Given the description of an element on the screen output the (x, y) to click on. 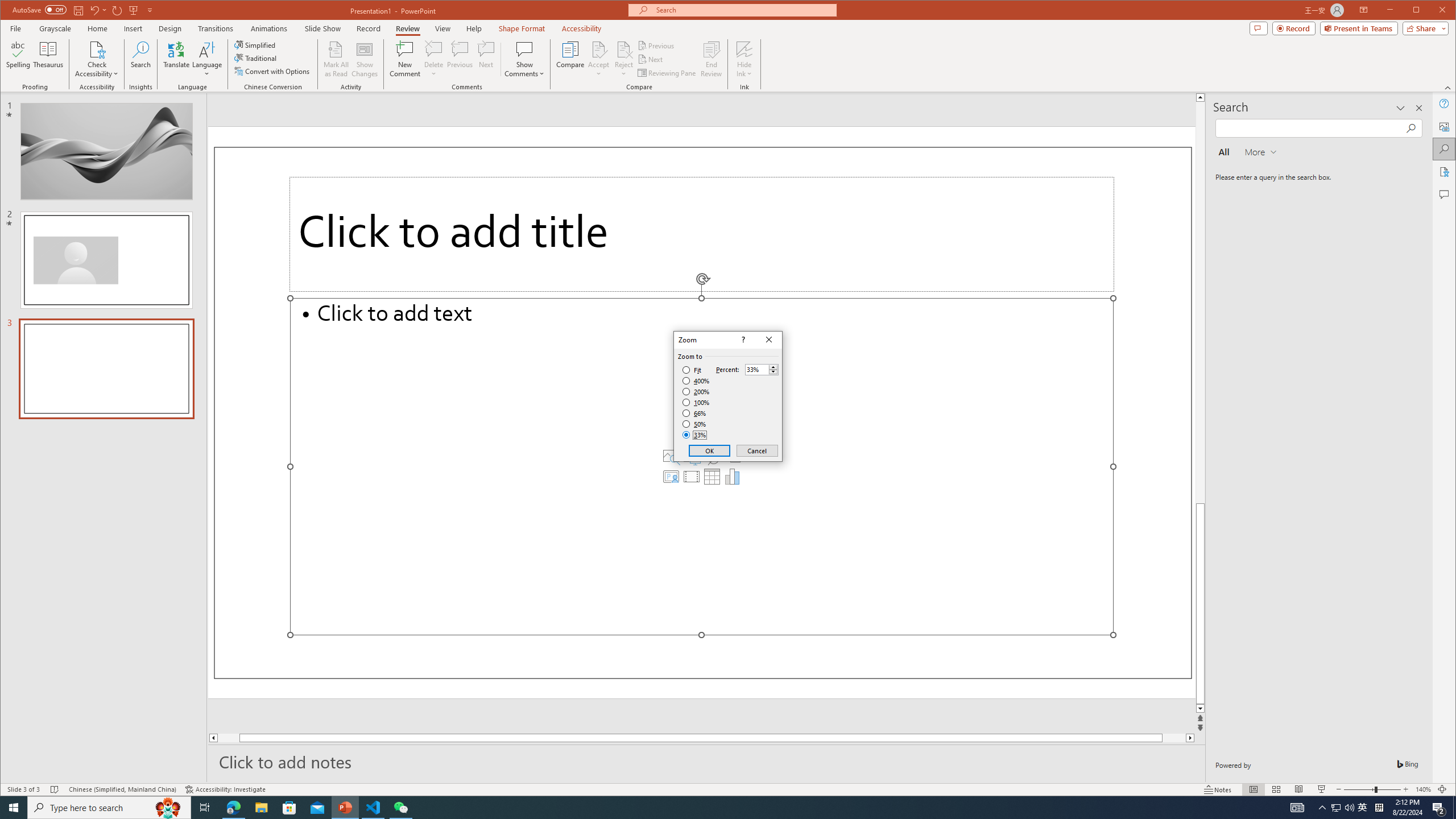
Insert Chart (732, 476)
Reject Change (623, 48)
Next (651, 59)
